Given the description of an element on the screen output the (x, y) to click on. 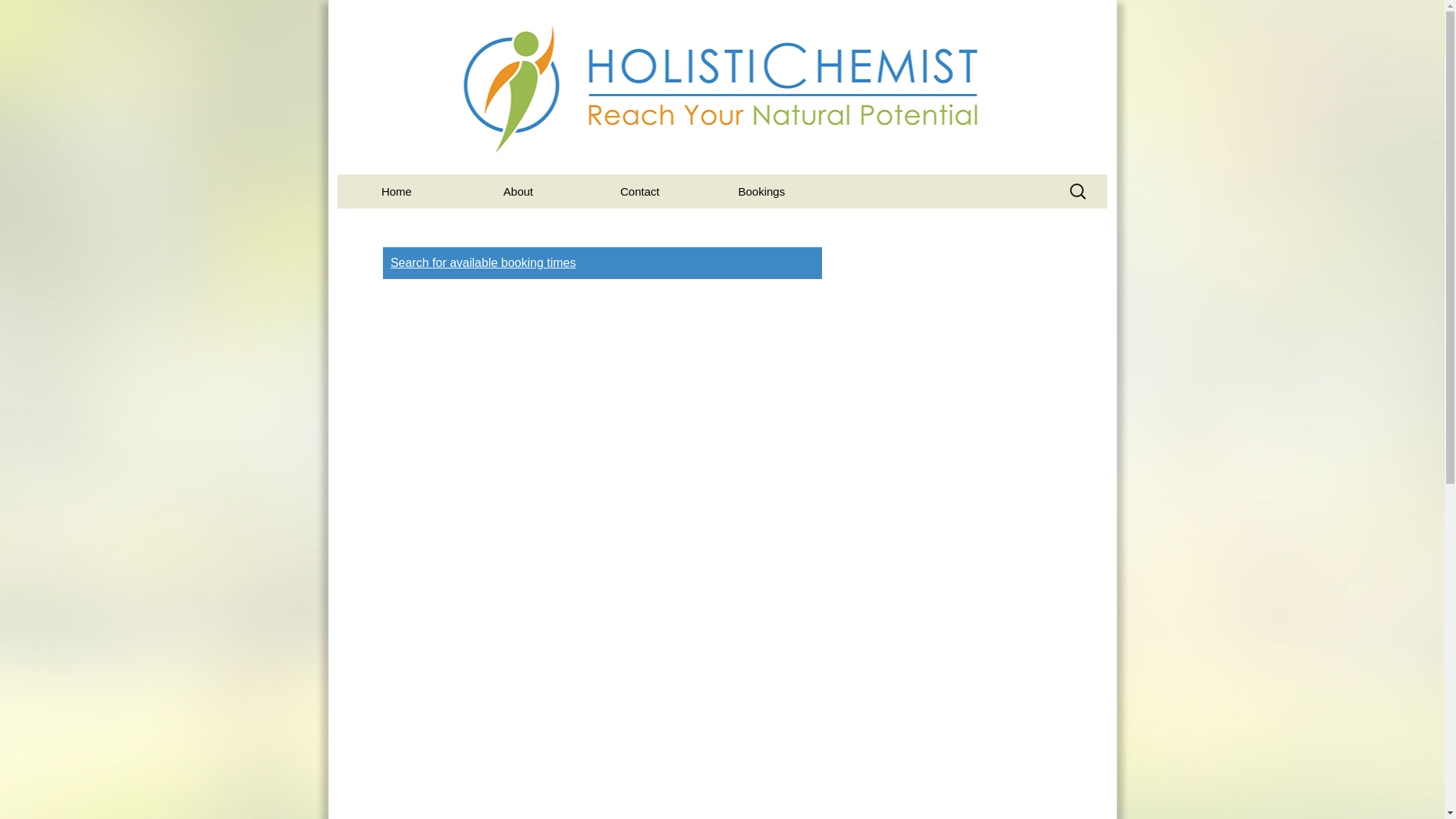
Bookings (761, 191)
Search (18, 15)
Search for available booking times (483, 262)
Home (396, 191)
Contact (639, 191)
About (517, 191)
HolistiChemist.com (721, 87)
